Given the description of an element on the screen output the (x, y) to click on. 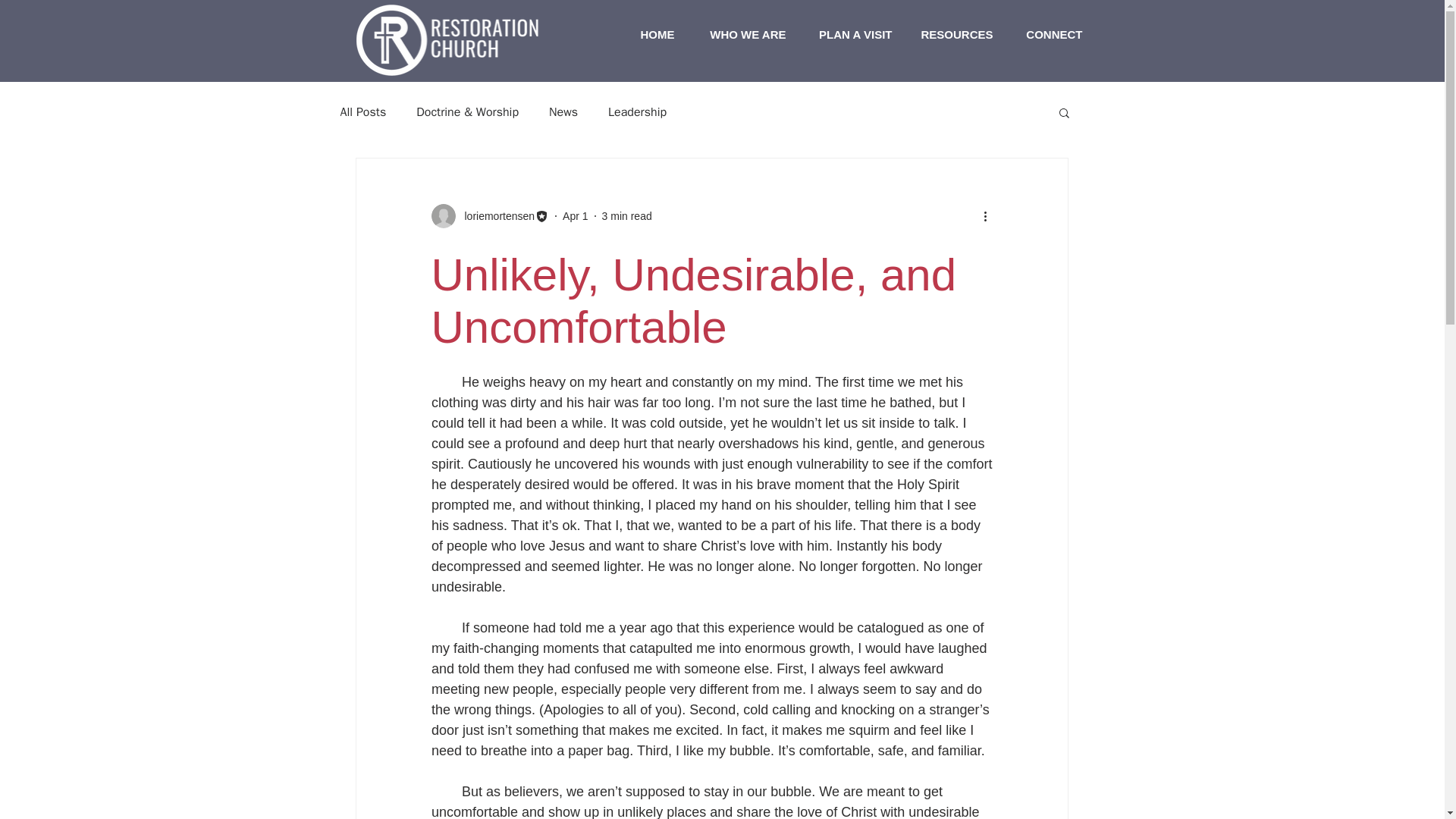
loriemortensen (489, 215)
WHO WE ARE (740, 34)
loriemortensen (494, 215)
PLAN A VISIT (850, 34)
All Posts (362, 112)
News (563, 112)
3 min read (627, 215)
CONNECT (1048, 34)
Apr 1 (575, 215)
Leadership (637, 112)
HOME (650, 34)
